Given the description of an element on the screen output the (x, y) to click on. 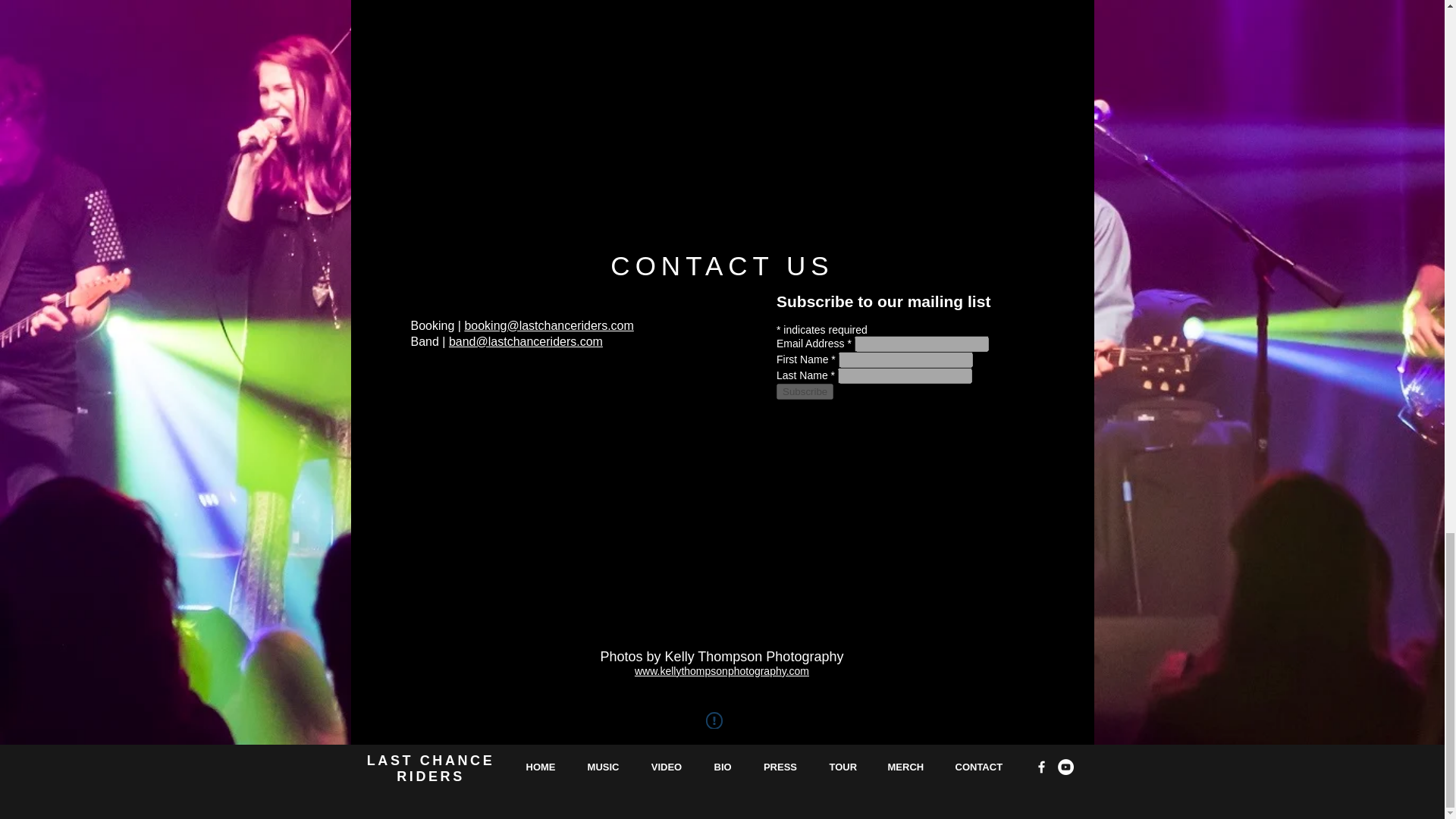
www.kellythompsonphotography.com (721, 671)
Embedded Content (896, 426)
